Given the description of an element on the screen output the (x, y) to click on. 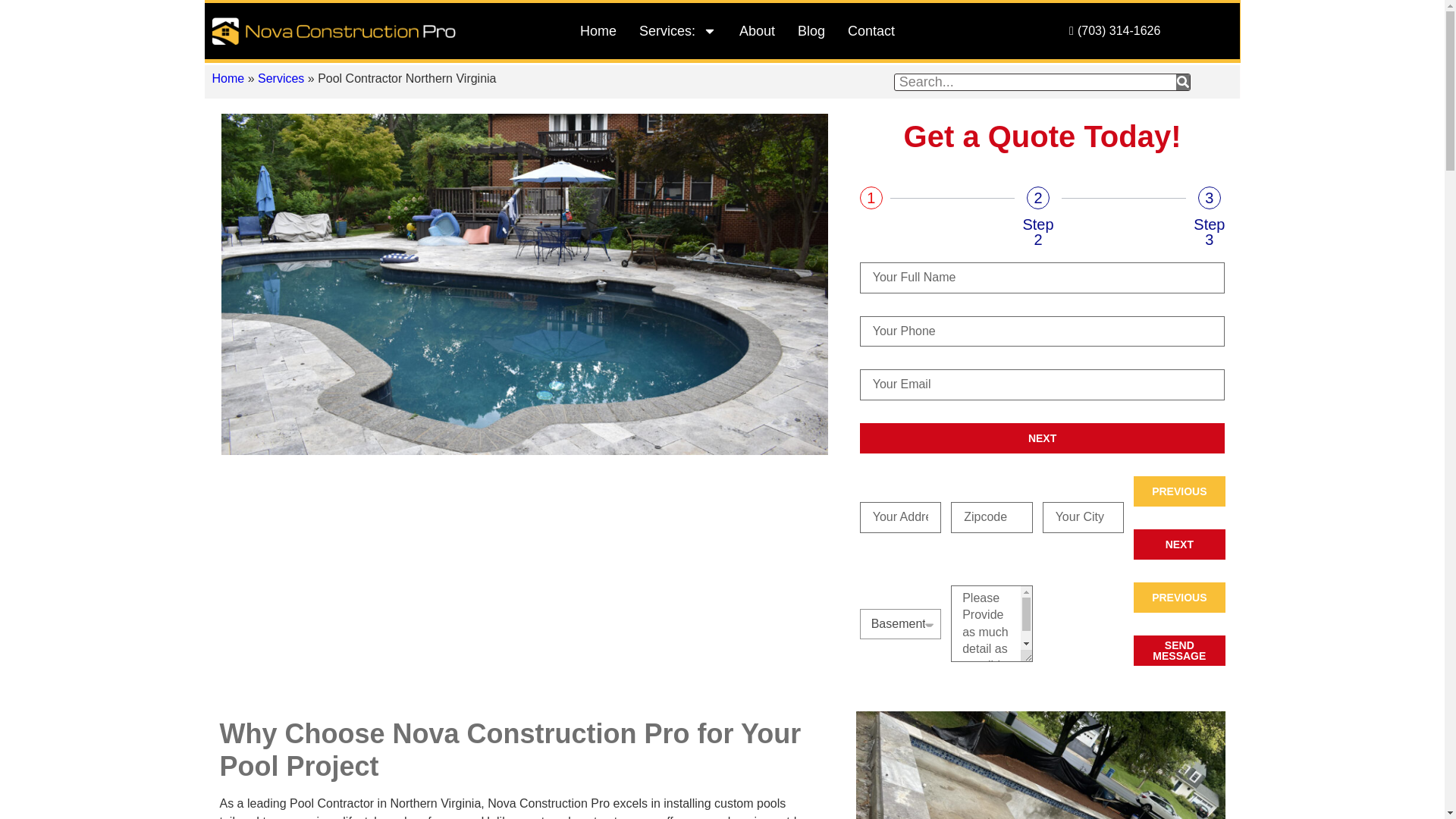
Services: (677, 30)
Home (598, 30)
About (757, 30)
